Given the description of an element on the screen output the (x, y) to click on. 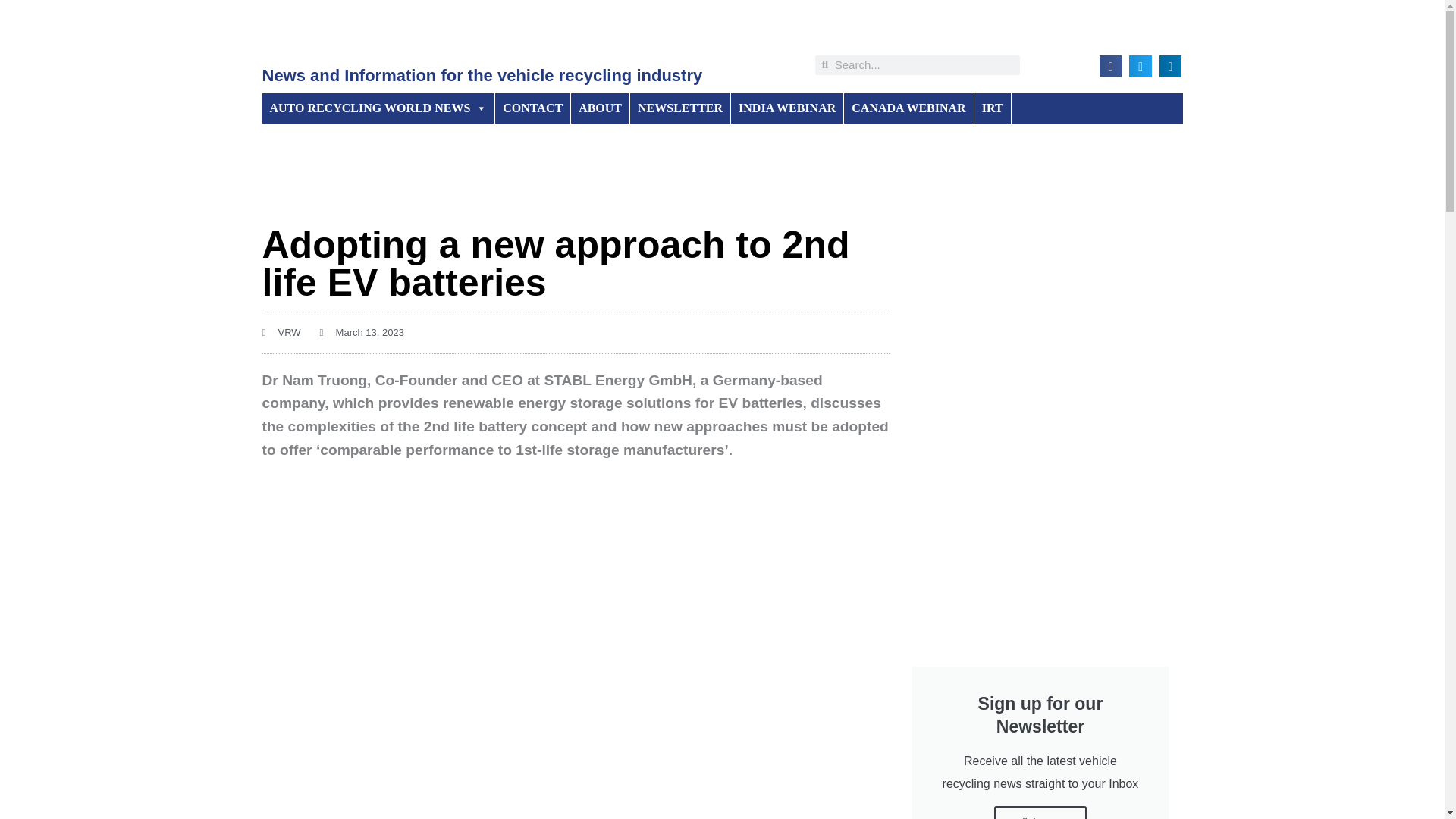
IRT (992, 108)
CONTACT (532, 108)
NEWSLETTER (680, 108)
ABOUT (600, 108)
CANADA WEBINAR (909, 108)
VRW (281, 332)
INDIA WEBINAR (787, 108)
March 13, 2023 (362, 332)
AUTO RECYCLING WORLD NEWS (379, 108)
Search (923, 65)
